Given the description of an element on the screen output the (x, y) to click on. 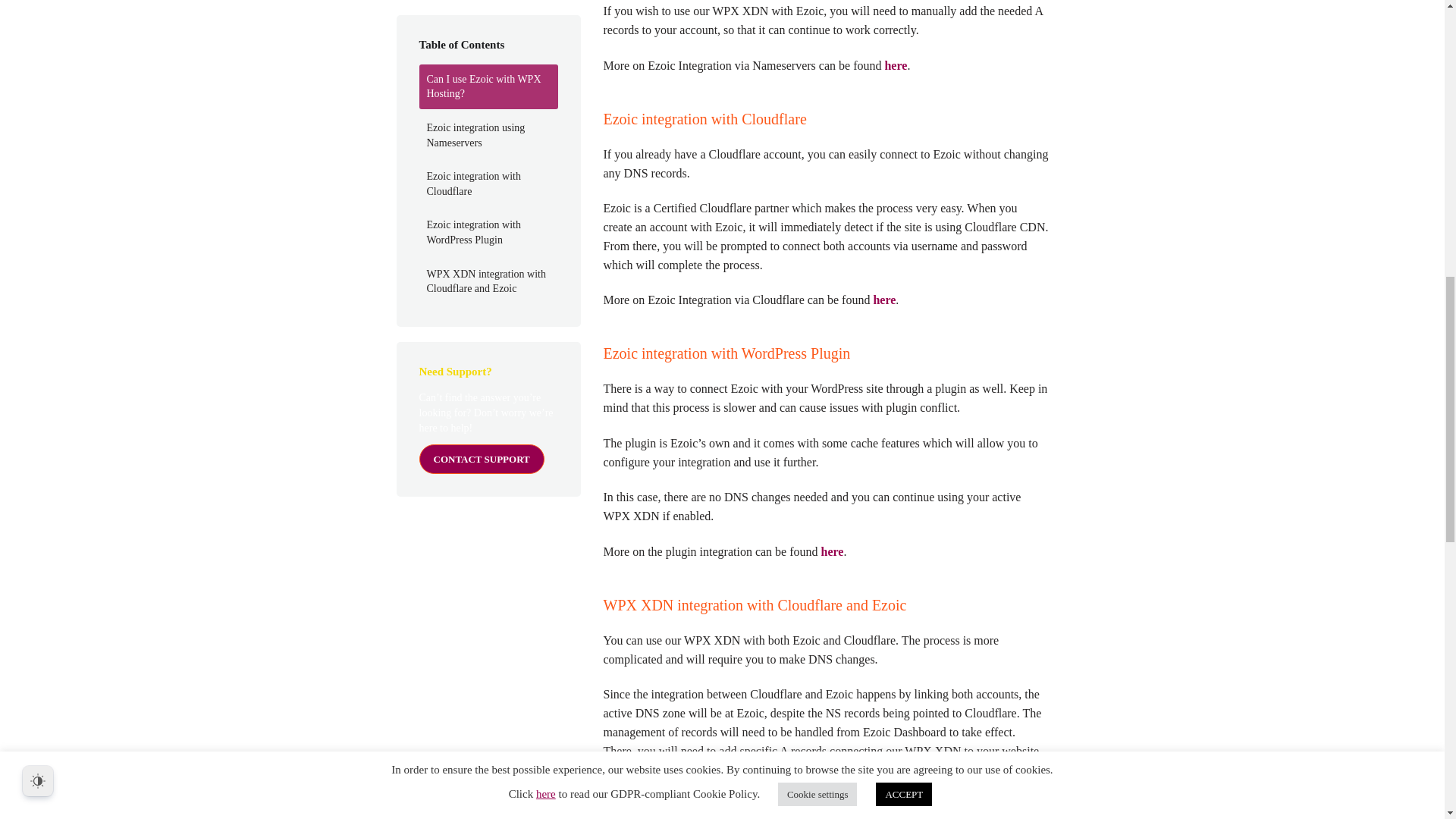
here (883, 299)
here (895, 65)
here (832, 551)
here (646, 818)
